Given the description of an element on the screen output the (x, y) to click on. 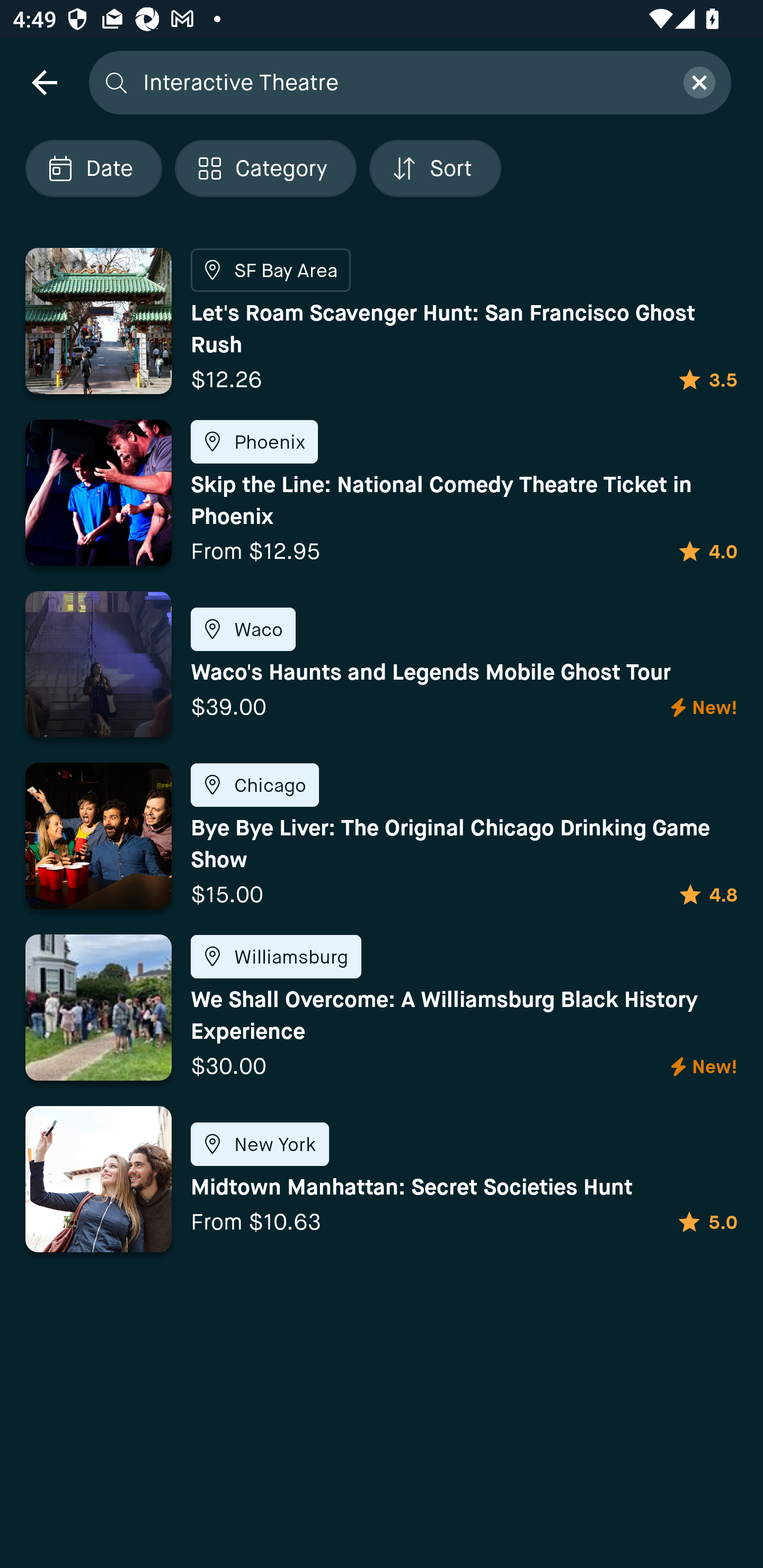
navigation icon (44, 81)
Interactive Theatre (402, 81)
Localized description Date (93, 168)
Localized description Category (265, 168)
Localized description Sort (435, 168)
